Given the description of an element on the screen output the (x, y) to click on. 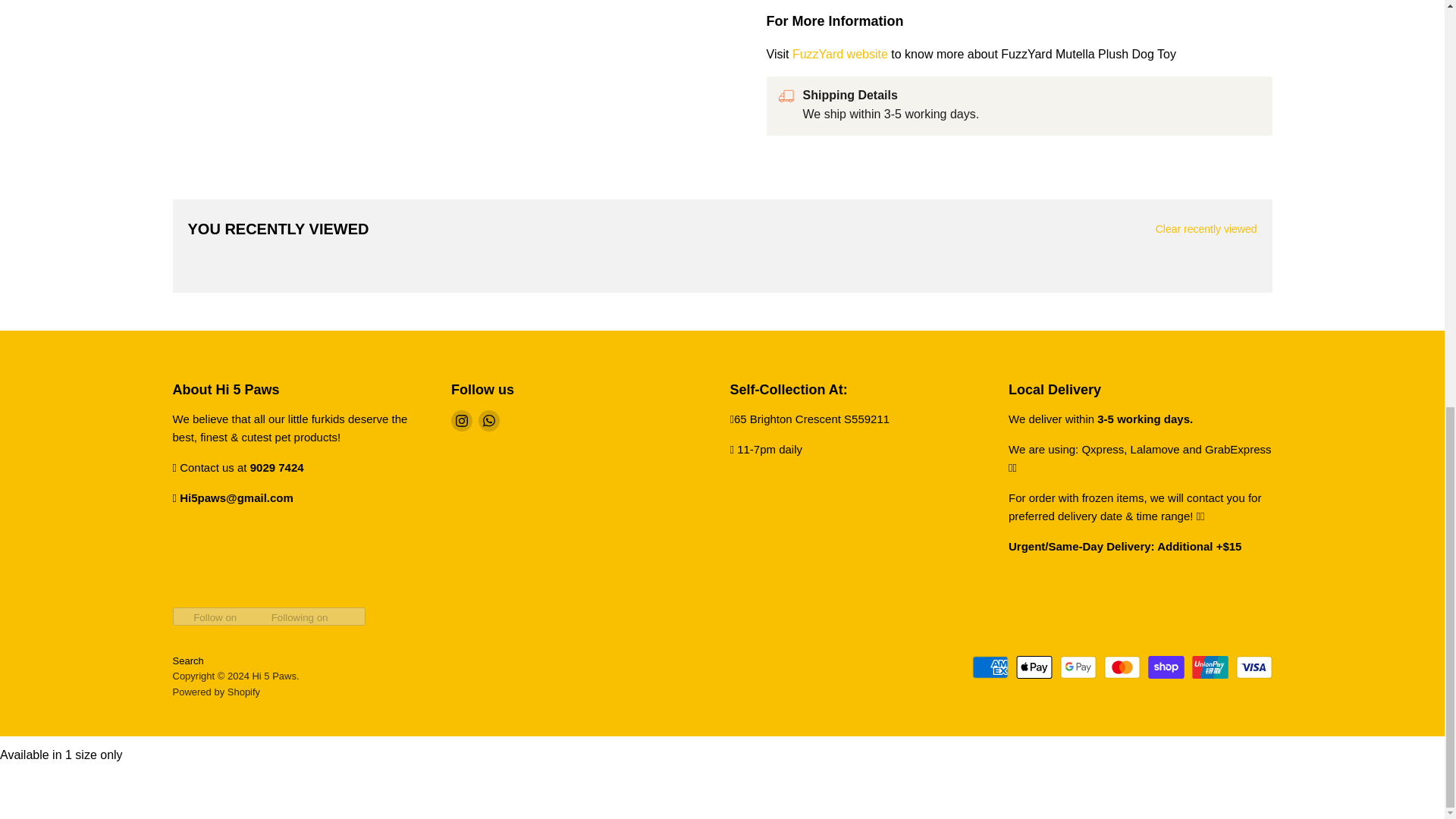
American Express (990, 667)
Visa (1254, 667)
Instagram (461, 420)
Shop Pay (1166, 667)
Google Pay (1077, 667)
WhatsApp (489, 420)
Mastercard (1121, 667)
Apple Pay (1034, 667)
Union Pay (1210, 667)
